Given the description of an element on the screen output the (x, y) to click on. 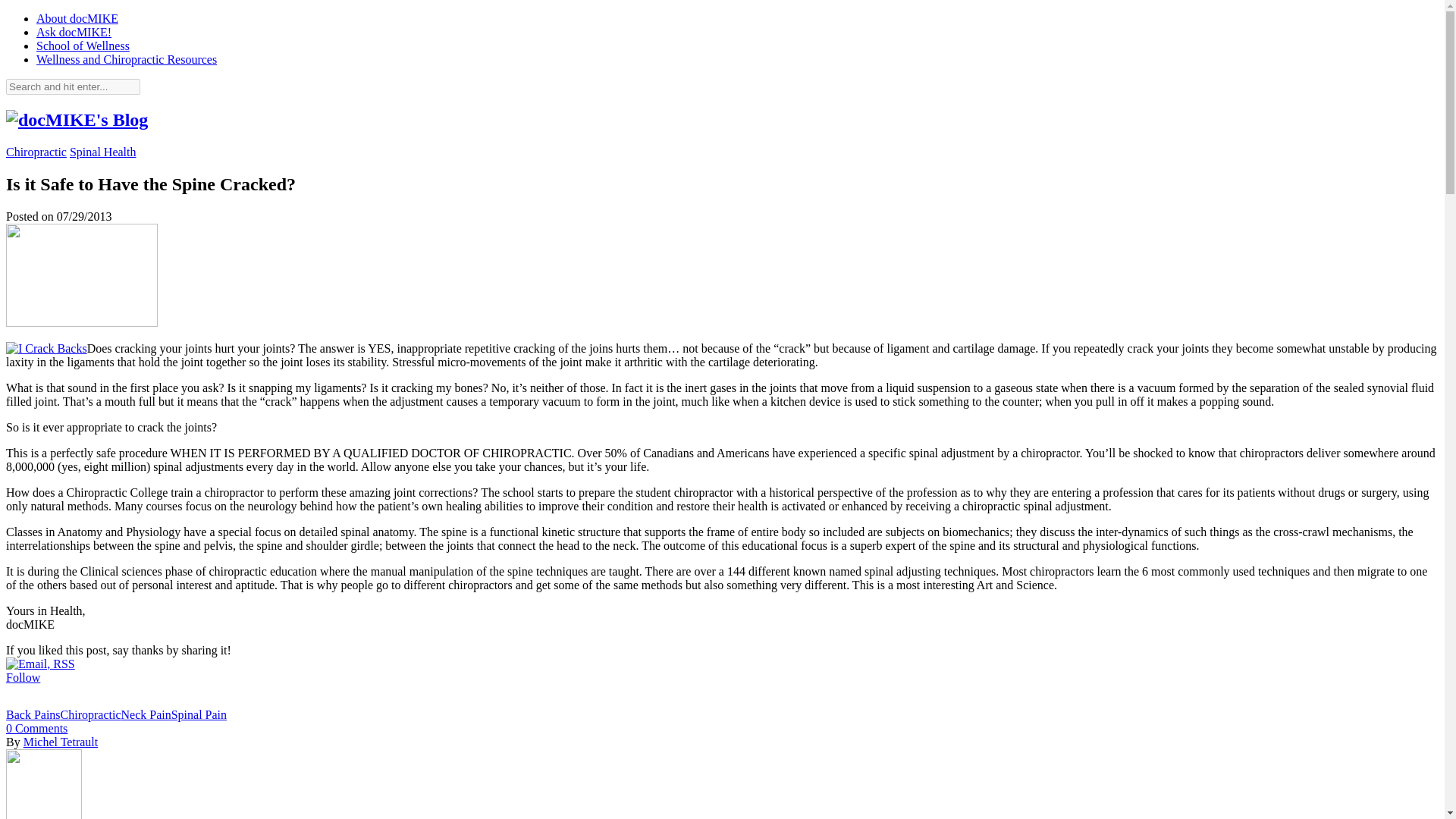
Chiropractic (90, 714)
Spinal Pain (199, 714)
Chiropractic (35, 151)
I Crack backs (46, 348)
Follow (40, 670)
Neck Pain (145, 714)
Wellness and Chiropractic Resources (126, 59)
About docMIKE (76, 18)
Posts by Michel Tetrault (61, 741)
Back Pains (33, 714)
